Given the description of an element on the screen output the (x, y) to click on. 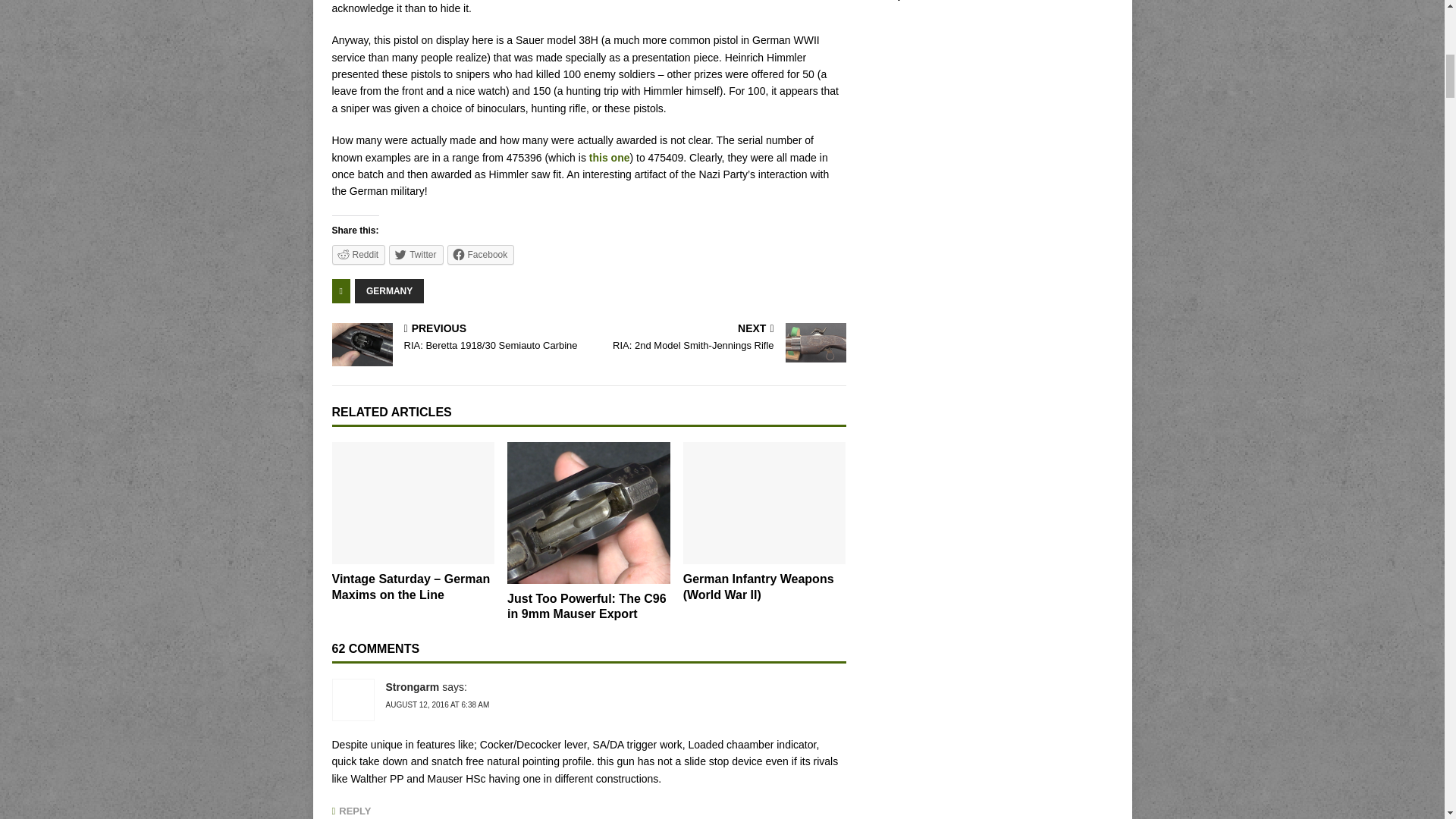
Just Too Powerful: The C96 in 9mm Mauser Export (587, 512)
Click to share on Reddit (358, 254)
Click to share on Facebook (480, 254)
Click to share on Twitter (415, 254)
Just Too Powerful: The C96 in 9mm Mauser Export (586, 606)
